Given the description of an element on the screen output the (x, y) to click on. 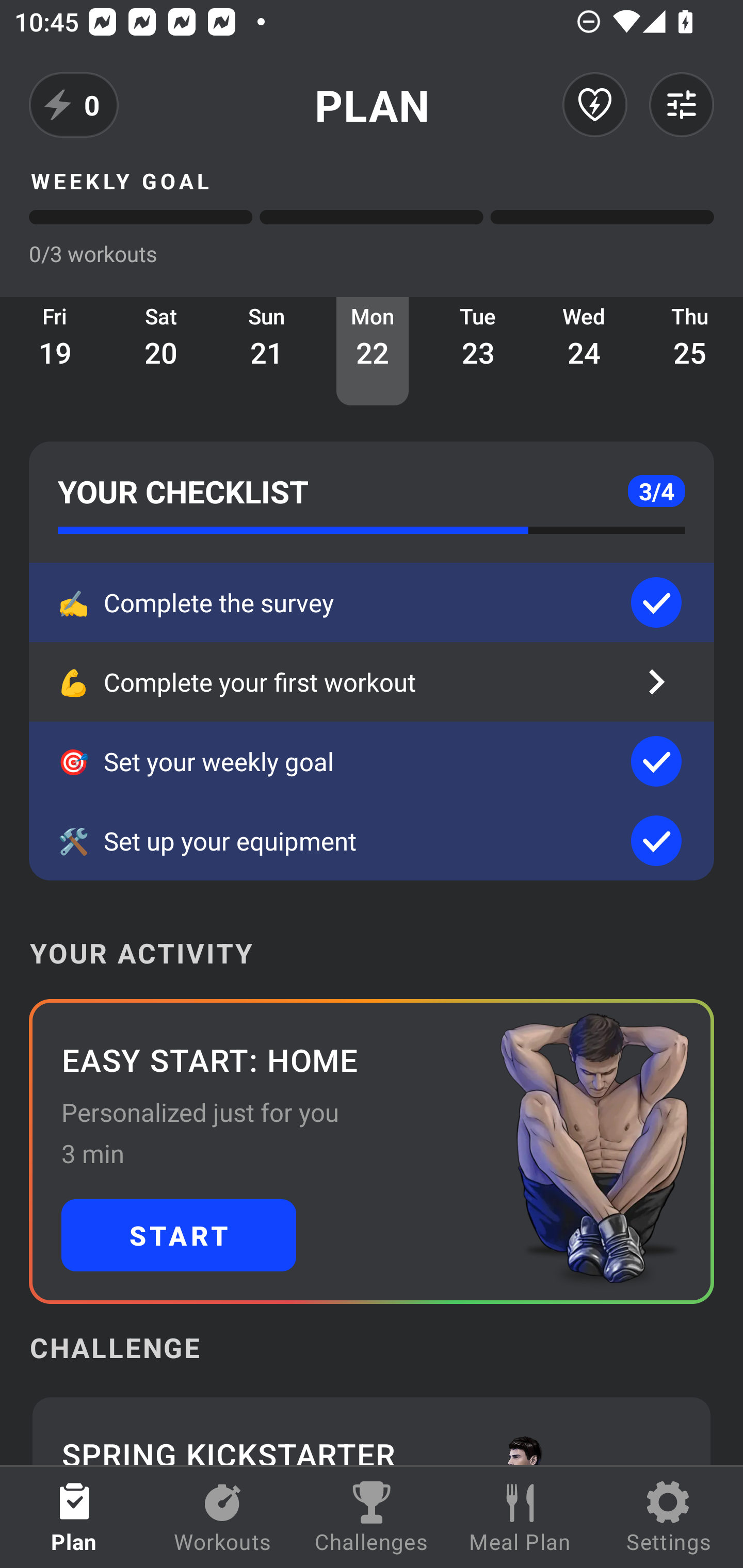
0 (73, 104)
Fri 19 (55, 351)
Sat 20 (160, 351)
Sun 21 (266, 351)
Mon 22 (372, 351)
Tue 23 (478, 351)
Wed 24 (584, 351)
Thu 25 (690, 351)
💪 Complete your first workout (371, 681)
START (178, 1235)
 Workouts  (222, 1517)
 Challenges  (371, 1517)
 Meal Plan  (519, 1517)
 Settings  (668, 1517)
